Given the description of an element on the screen output the (x, y) to click on. 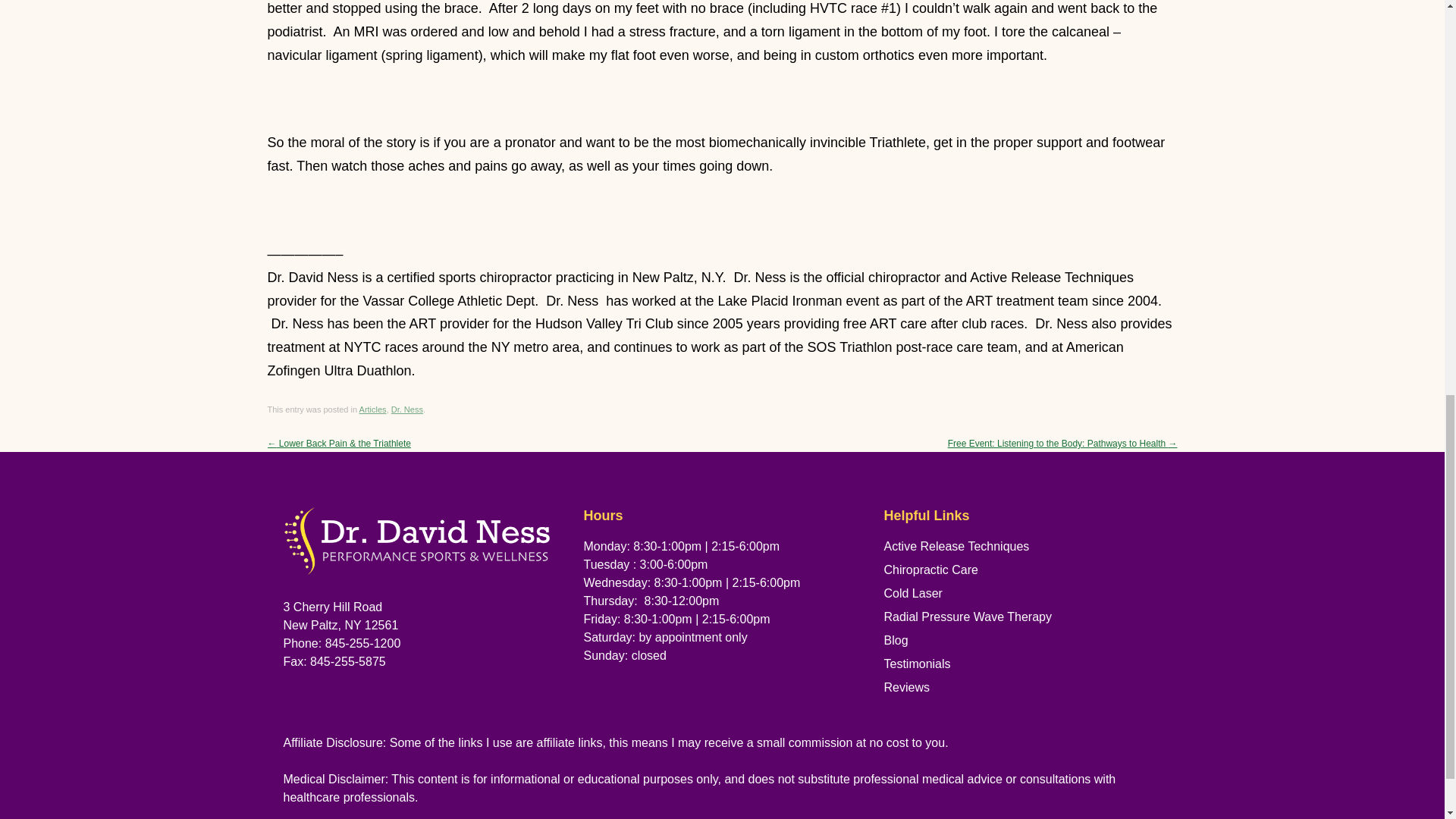
Articles (373, 409)
Cold Laser (912, 593)
Active Release Techniques (956, 545)
Chiropractic Care (930, 569)
Radial Pressure Wave Therapy (967, 616)
845-255-1200 (362, 643)
Dr. Ness (407, 409)
845-255-5875 (347, 661)
Reviews (906, 686)
Testimonials (916, 663)
